Given the description of an element on the screen output the (x, y) to click on. 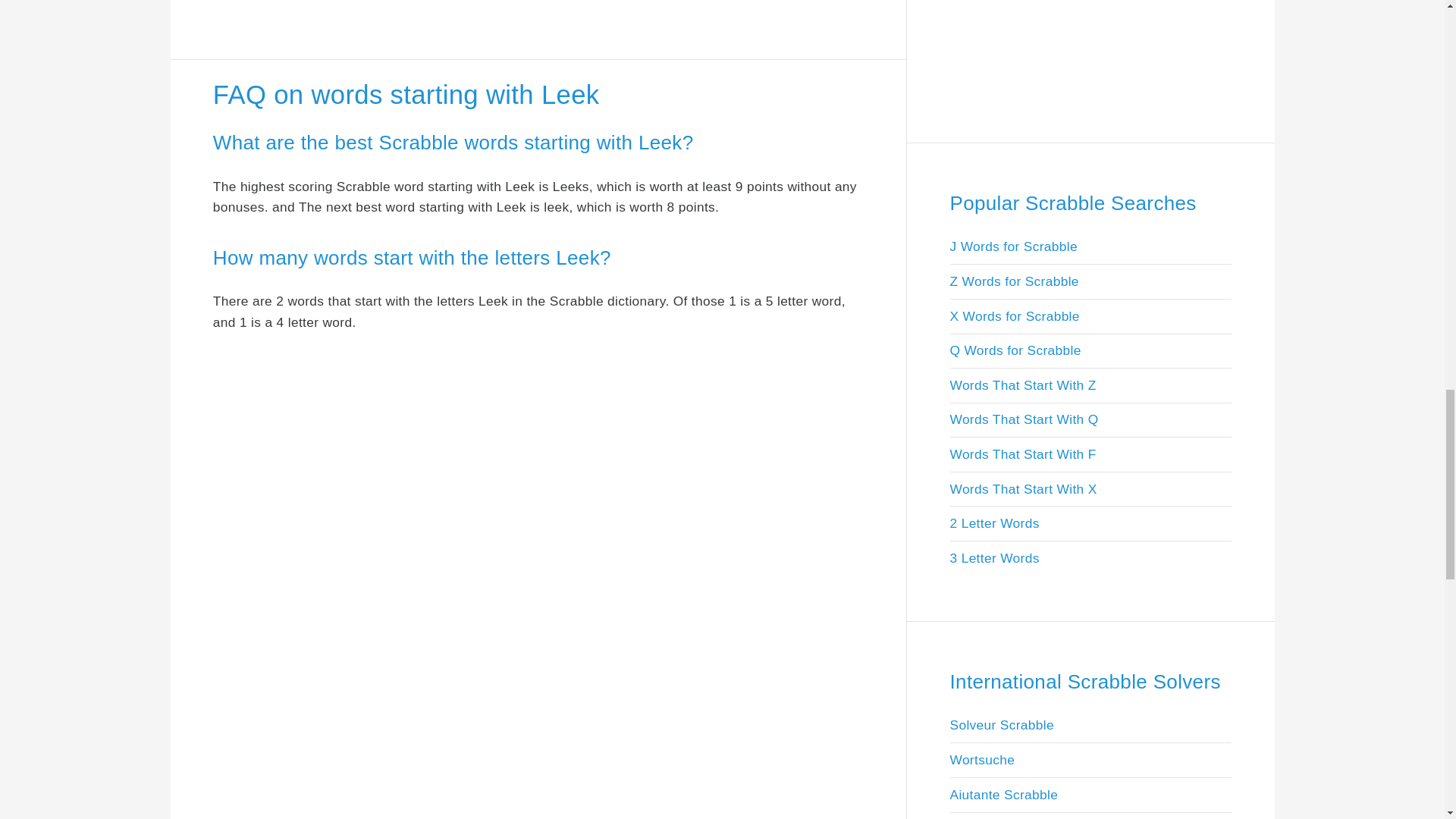
X (1434, 21)
